Given the description of an element on the screen output the (x, y) to click on. 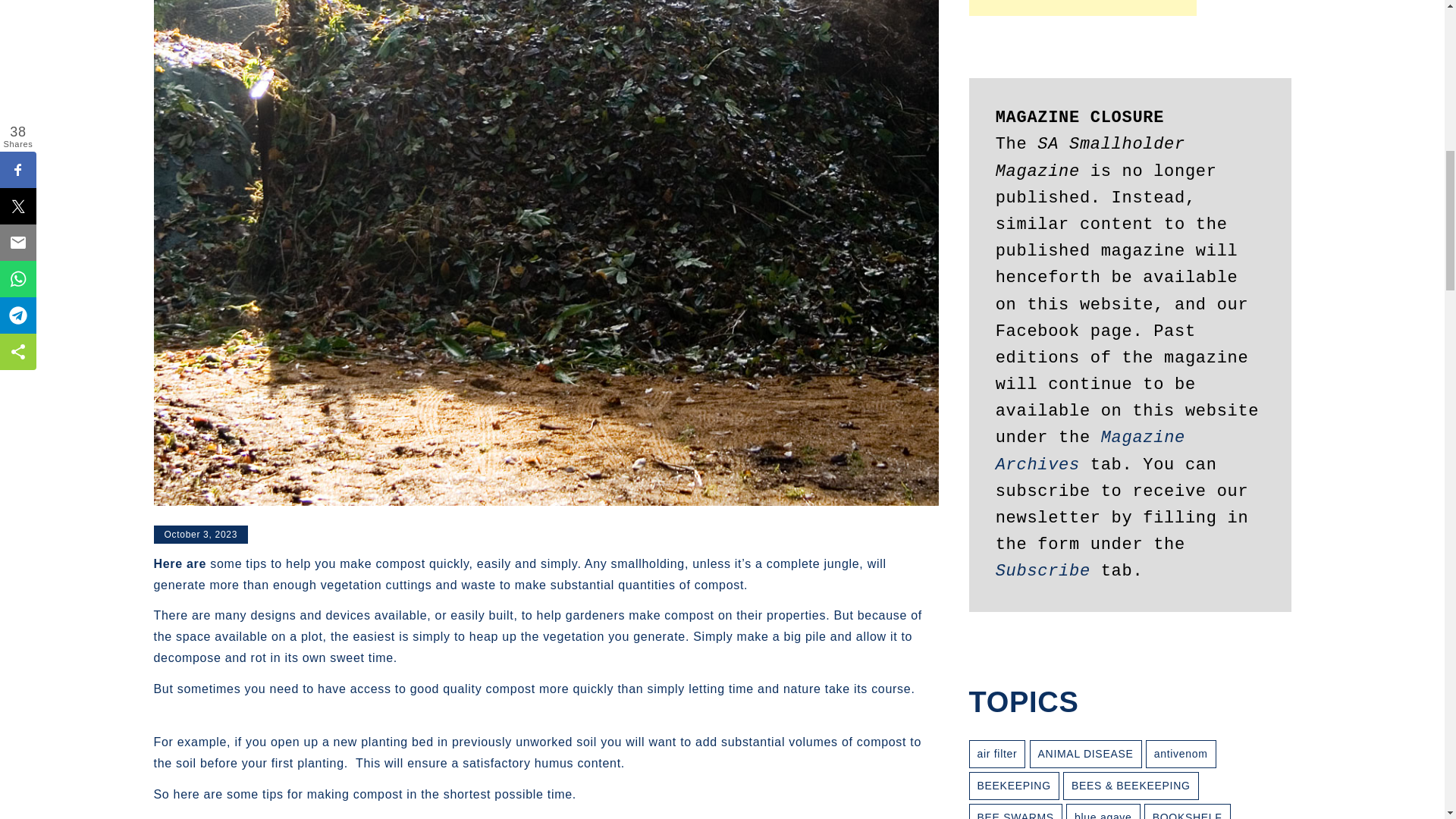
Advertisement (1082, 7)
air filter (997, 754)
Magazine Archives (1095, 451)
October 3, 2023 (199, 534)
ANIMAL DISEASE (1085, 754)
Subscribe (1042, 570)
